Given the description of an element on the screen output the (x, y) to click on. 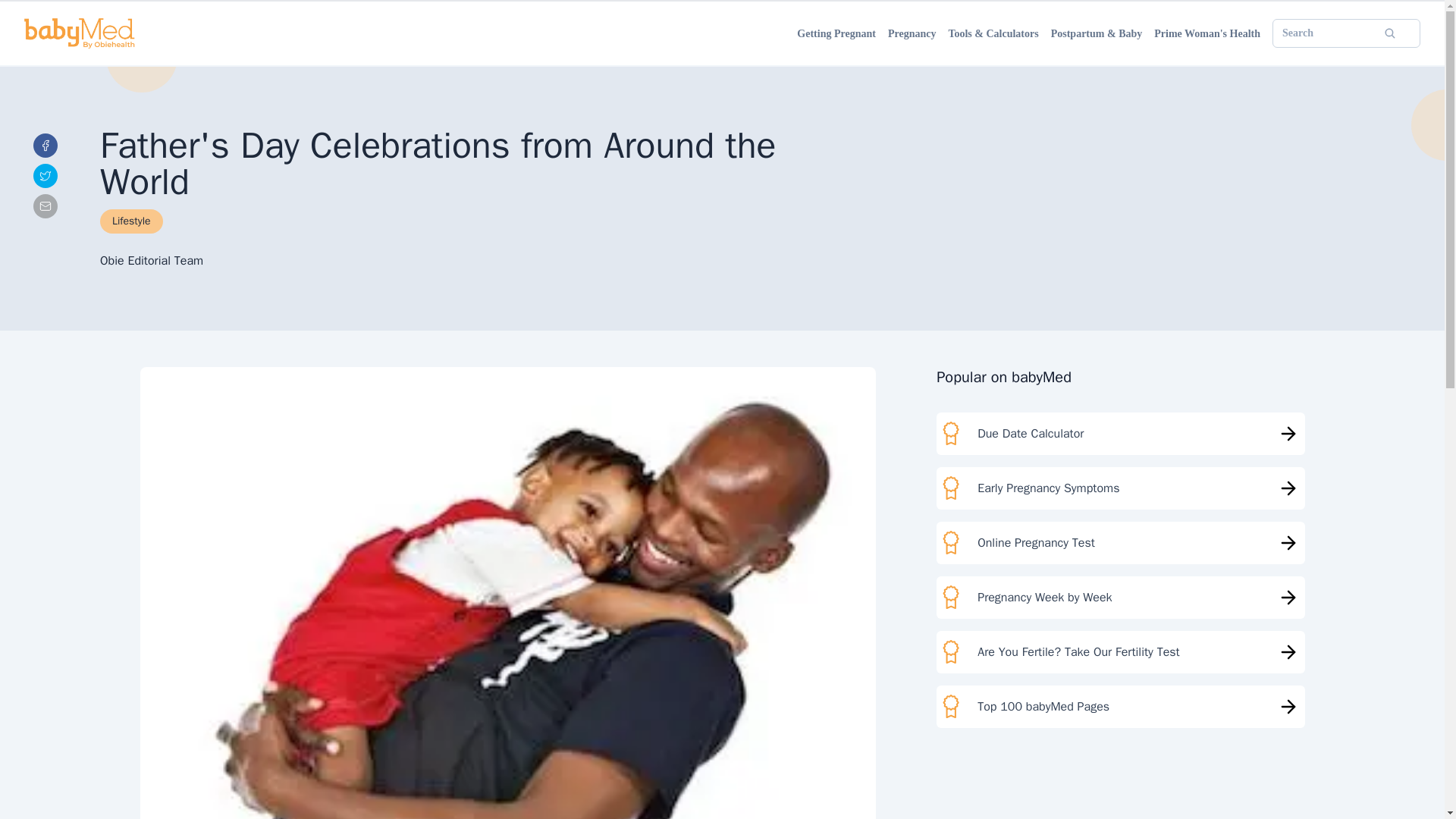
Pregnancy Week by Week (1120, 597)
Online Pregnancy Test (1120, 542)
Prime Woman's Health (1207, 33)
Early Pregnancy Symptoms (1120, 487)
Are You Fertile? Take Our Fertility Test (1120, 651)
Due Date Calculator (1120, 433)
Pregnancy (912, 33)
Getting Pregnant (836, 33)
Top 100 babyMed Pages (1120, 706)
